Given the description of an element on the screen output the (x, y) to click on. 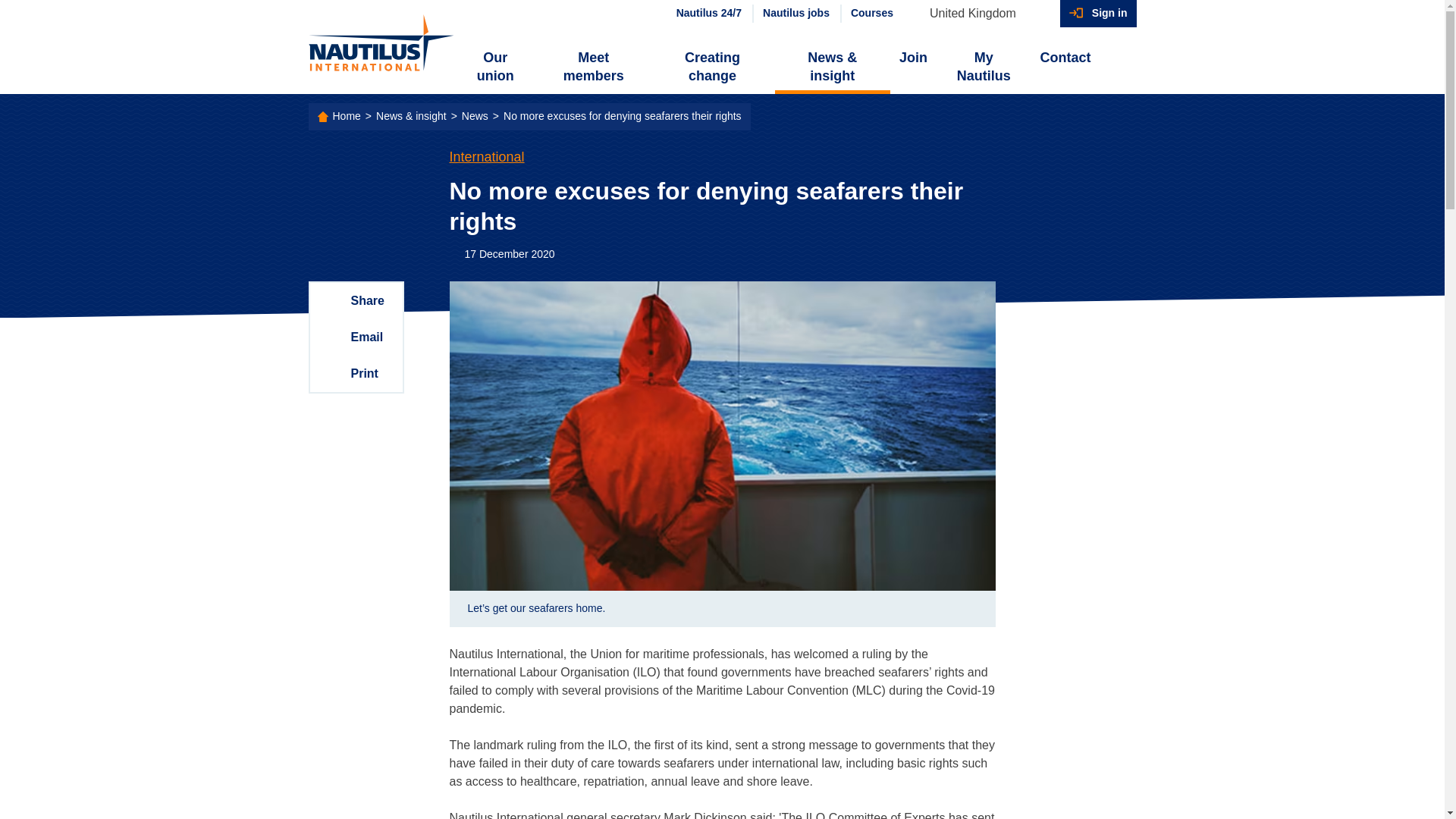
Contact (1065, 58)
Meet members (593, 67)
Our union (495, 67)
My Nautilus (983, 67)
Join (912, 58)
Creating change (711, 67)
Nautilus jobs (795, 13)
Sign in (1098, 13)
United Kingdom (979, 13)
Courses (871, 13)
